Given the description of an element on the screen output the (x, y) to click on. 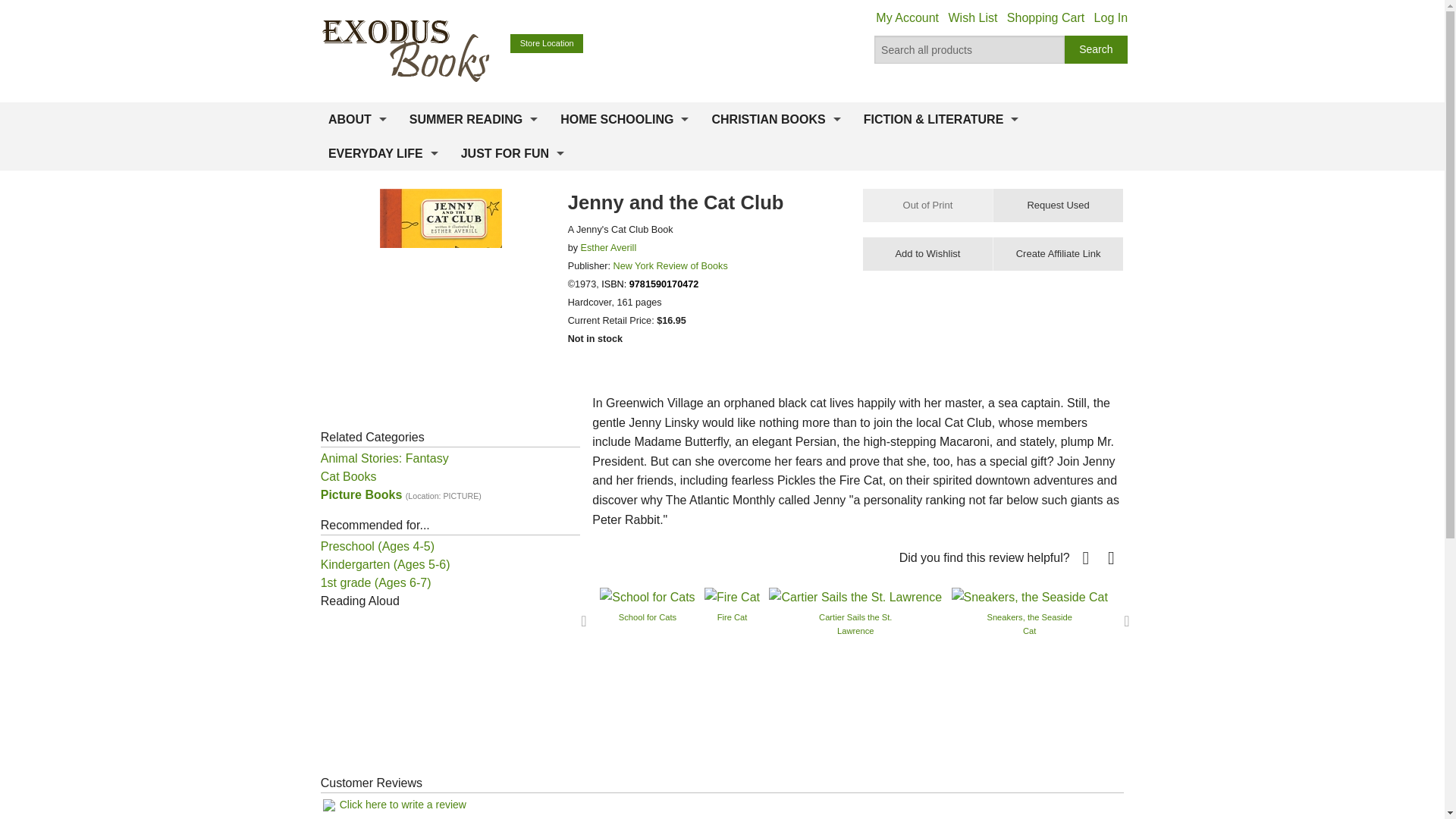
link to this item (1057, 254)
Out of Print (927, 205)
request used (1057, 205)
out of print (927, 205)
EVERYDAY LIFE (383, 153)
Shopping Cart (1045, 17)
Search (1096, 49)
New York Review of Books (669, 266)
Fire Cat (732, 595)
Out of Print (927, 205)
